Given the description of an element on the screen output the (x, y) to click on. 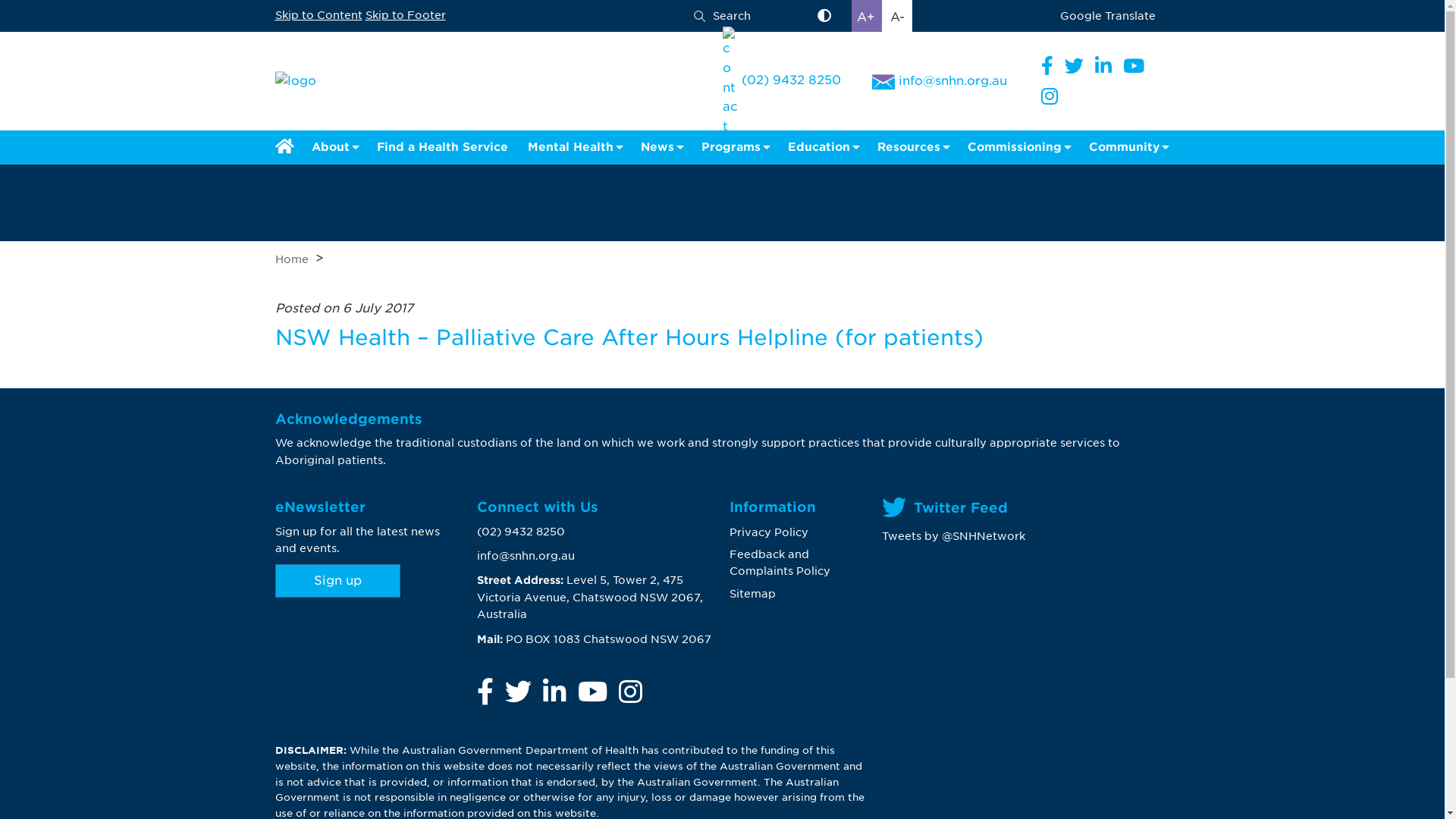
News Element type: text (660, 147)
Resources Element type: text (912, 147)
(02) 9432 8250 Element type: text (520, 531)
A- Element type: text (897, 17)
Privacy Policy Element type: text (768, 532)
Tweets by @SNHNetwork Element type: text (952, 535)
(02) 9432 8250 Element type: text (780, 80)
Mental Health Element type: text (573, 147)
Programs Element type: text (734, 147)
Commissioning Element type: text (1017, 147)
Skip to Footer Element type: text (405, 14)
Skip to Content Element type: text (317, 14)
Feedback and Complaints Policy Element type: text (797, 563)
A+ Element type: text (865, 17)
Community Element type: text (1127, 147)
info@snhn.org.au Element type: text (939, 81)
Sign up Element type: text (336, 580)
Toggle High Contrast Element type: text (823, 15)
Find a Health Service Element type: text (442, 147)
Home Element type: text (290, 259)
info@snhn.org.au Element type: text (525, 555)
Sitemap Element type: text (752, 593)
About Element type: text (334, 147)
Education Element type: text (822, 147)
Search Element type: text (721, 15)
